Given the description of an element on the screen output the (x, y) to click on. 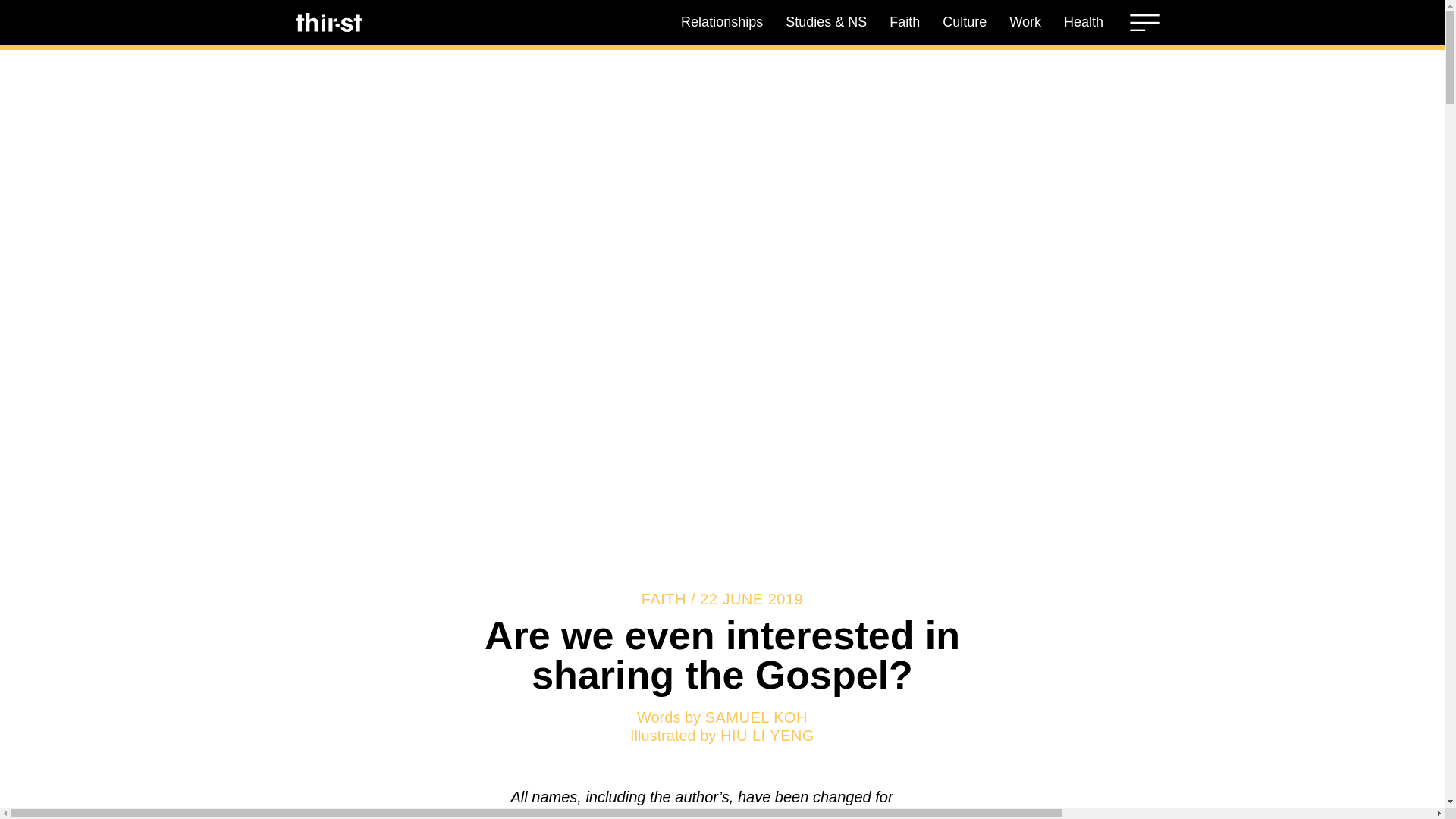
Health (1083, 21)
Relationships (721, 21)
Work (1024, 21)
Faith (904, 21)
Culture (964, 21)
